Given the description of an element on the screen output the (x, y) to click on. 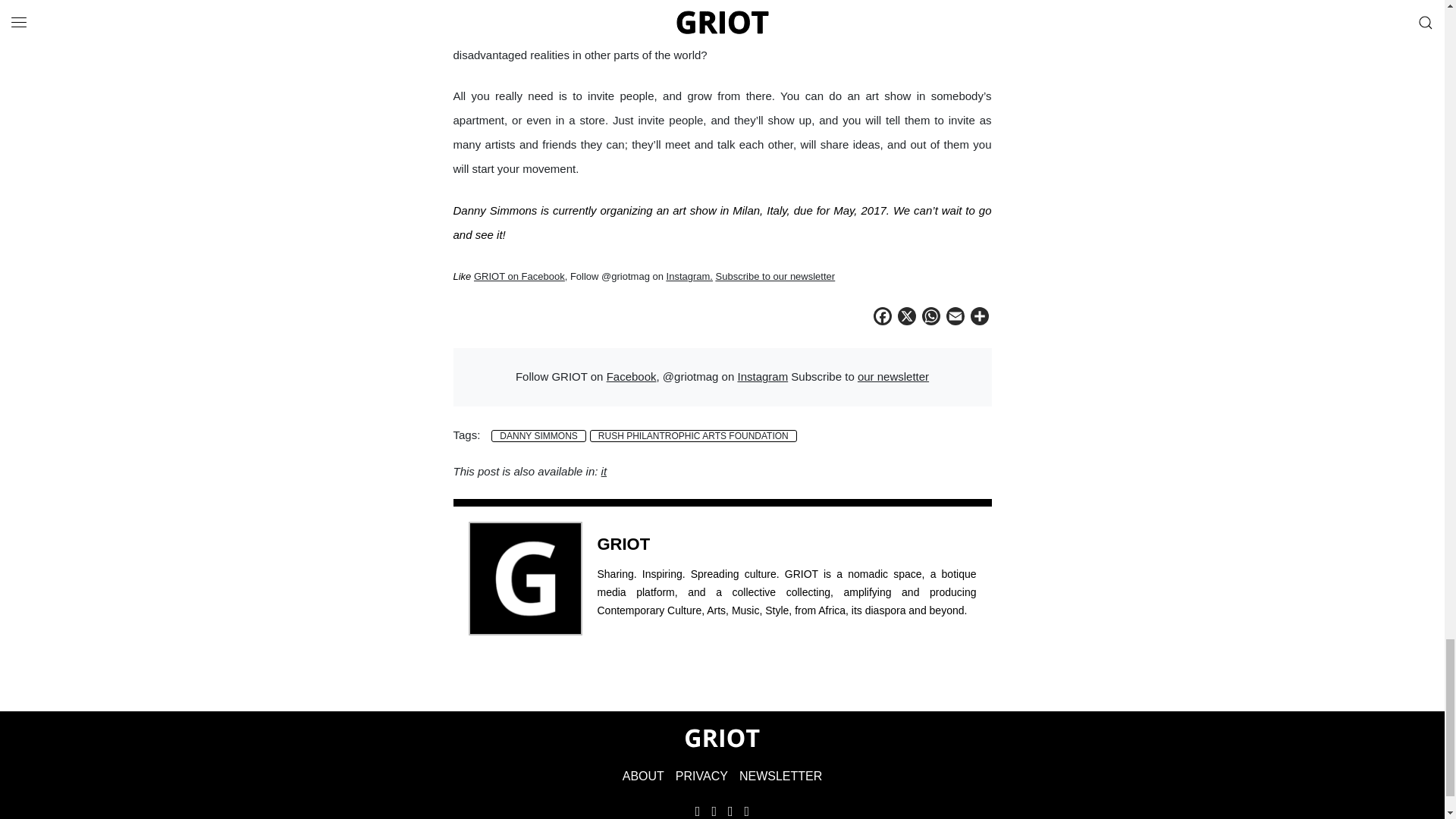
GRIOT on Facebook (519, 276)
WhatsApp (930, 318)
Instagram. (689, 276)
X (906, 318)
Email (955, 318)
Facebook (882, 318)
Instagram (761, 376)
Facebook (631, 376)
Subscribe to our newsletter (775, 276)
